Given the description of an element on the screen output the (x, y) to click on. 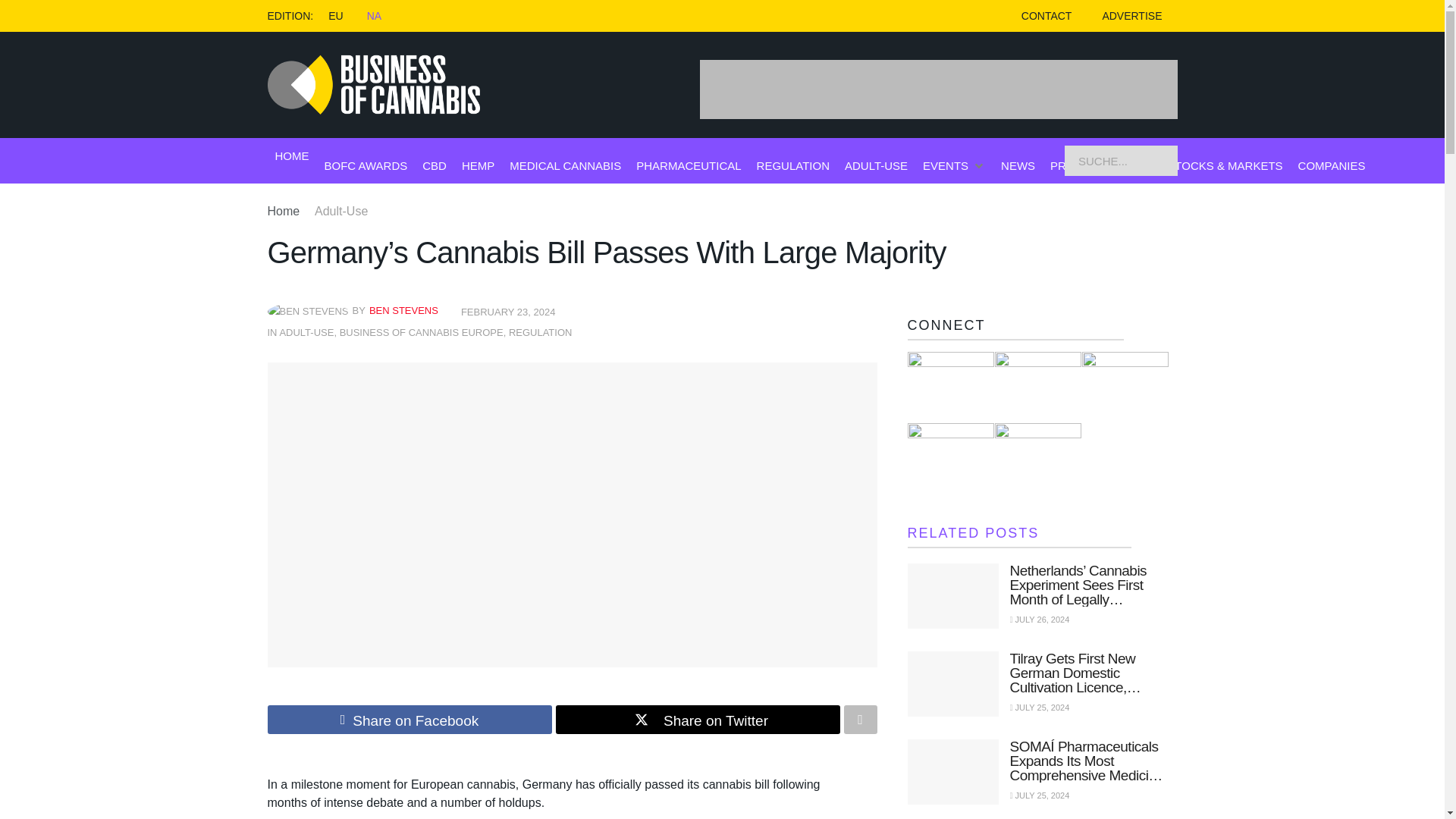
MEDICAL CANNABIS (565, 165)
EU (335, 15)
EVENTS (945, 165)
PHARMACEUTICAL (688, 165)
HEMP (478, 165)
BOFC AWARDS (365, 165)
FEBRUARY 23, 2024 (508, 311)
PRESS RELEASES (1100, 165)
NEWS (1018, 165)
Adult-Use (341, 210)
ADULT-USE (306, 332)
ADVERTISE (1131, 15)
REGULATION (540, 332)
BEN STEVENS (403, 310)
HOME (291, 156)
